Given the description of an element on the screen output the (x, y) to click on. 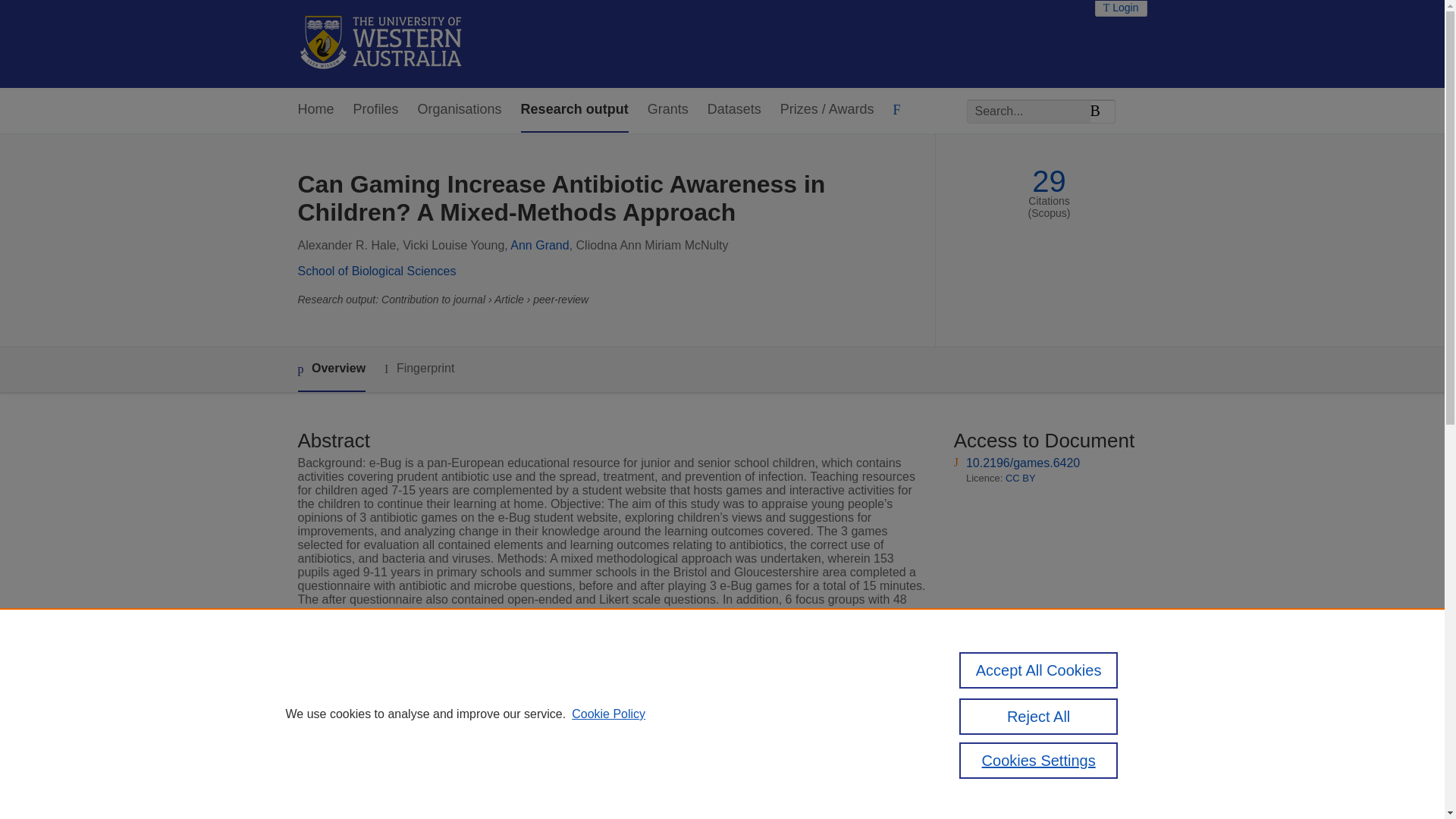
School of Biological Sciences (376, 270)
Profiles (375, 109)
Grants (667, 109)
Overview (331, 369)
Organisations (459, 109)
the UWA Profiles and Research Repository Home (380, 43)
29 (1048, 181)
Research output (574, 109)
Login (1121, 7)
Datasets (734, 109)
